Given the description of an element on the screen output the (x, y) to click on. 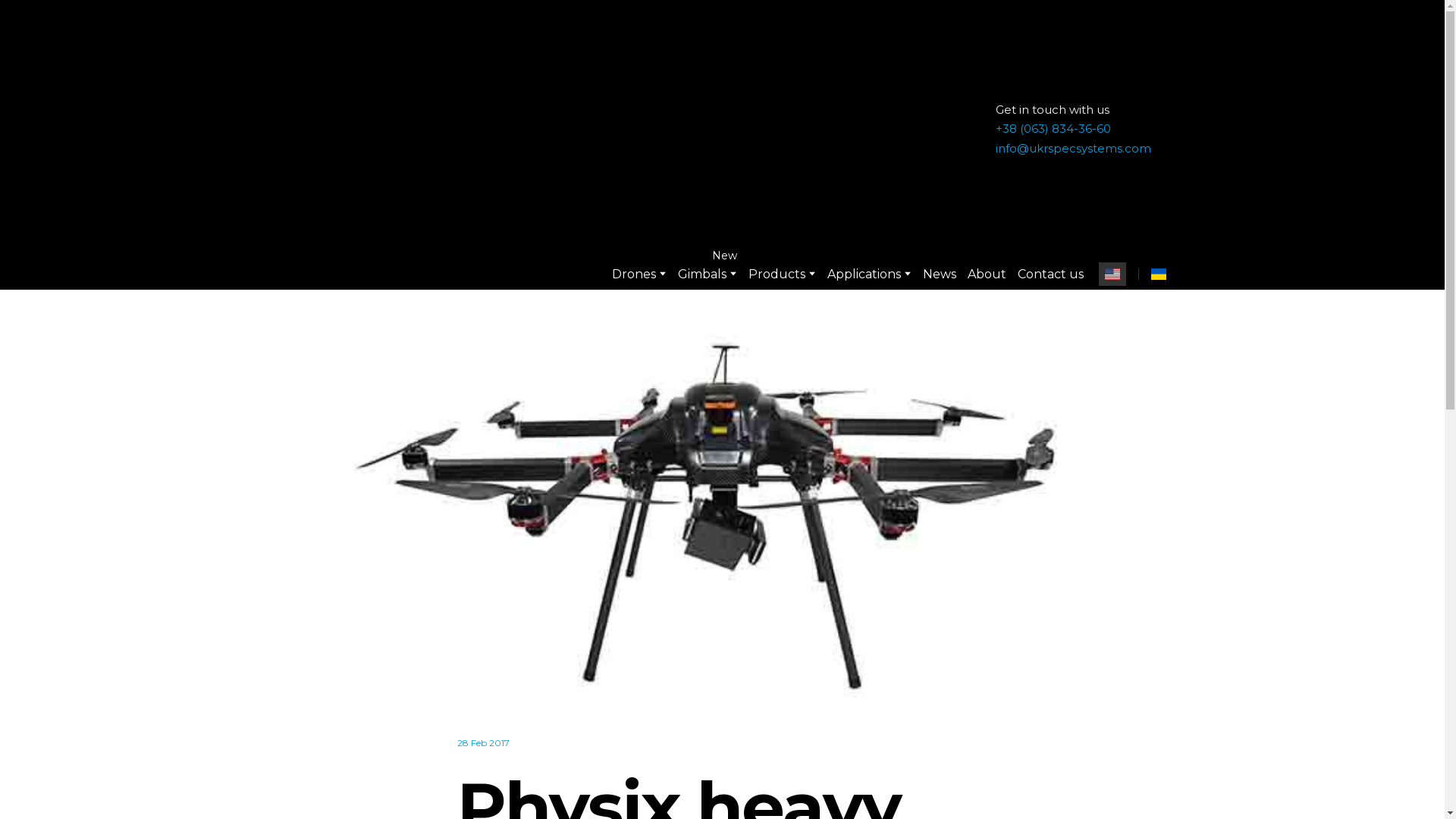
About (987, 273)
Products (776, 273)
Contact us (1050, 273)
Applications (863, 273)
Gimbals (702, 273)
News (938, 273)
Drones (633, 273)
